Given the description of an element on the screen output the (x, y) to click on. 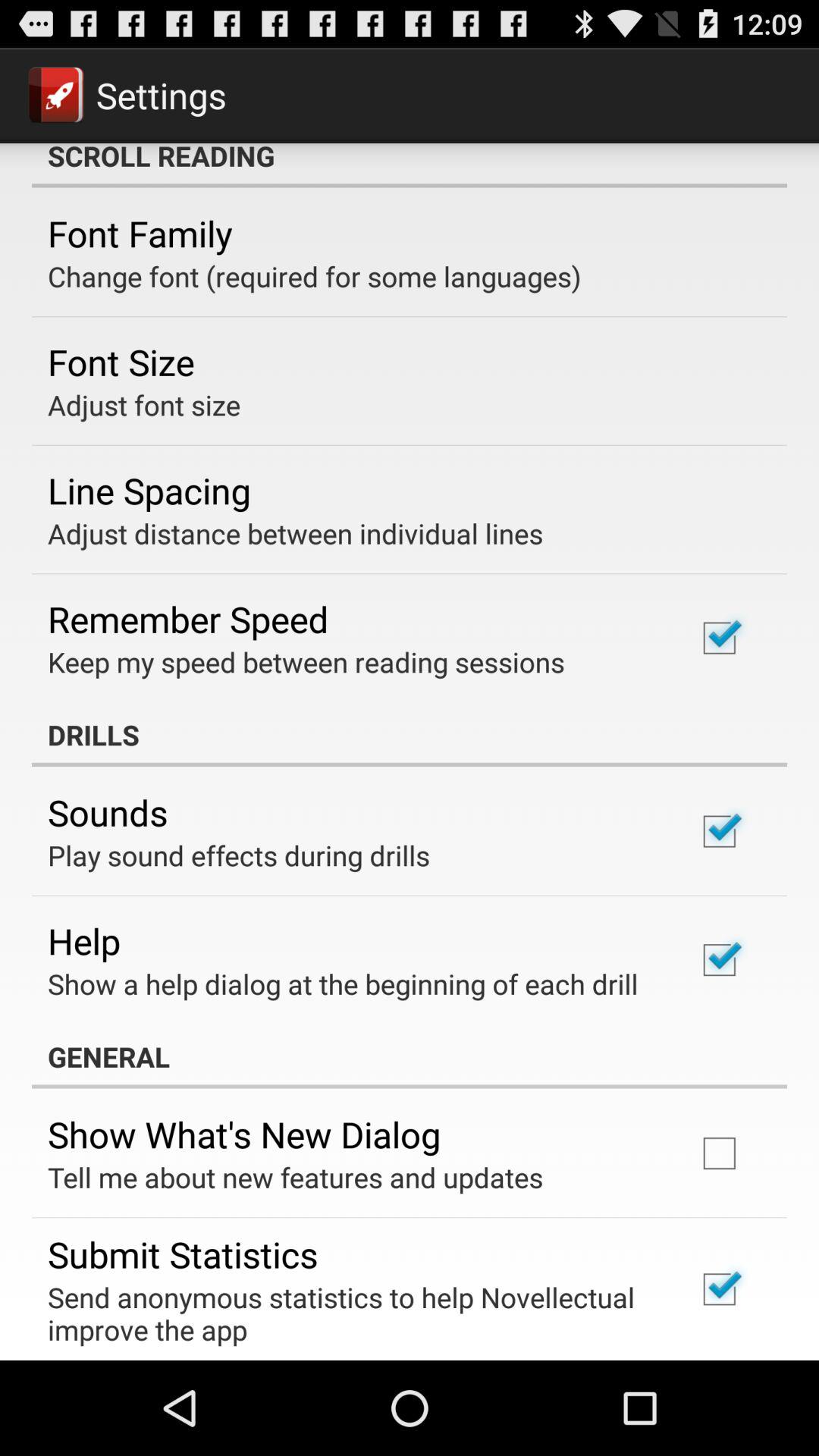
choose the keep my speed icon (305, 661)
